Given the description of an element on the screen output the (x, y) to click on. 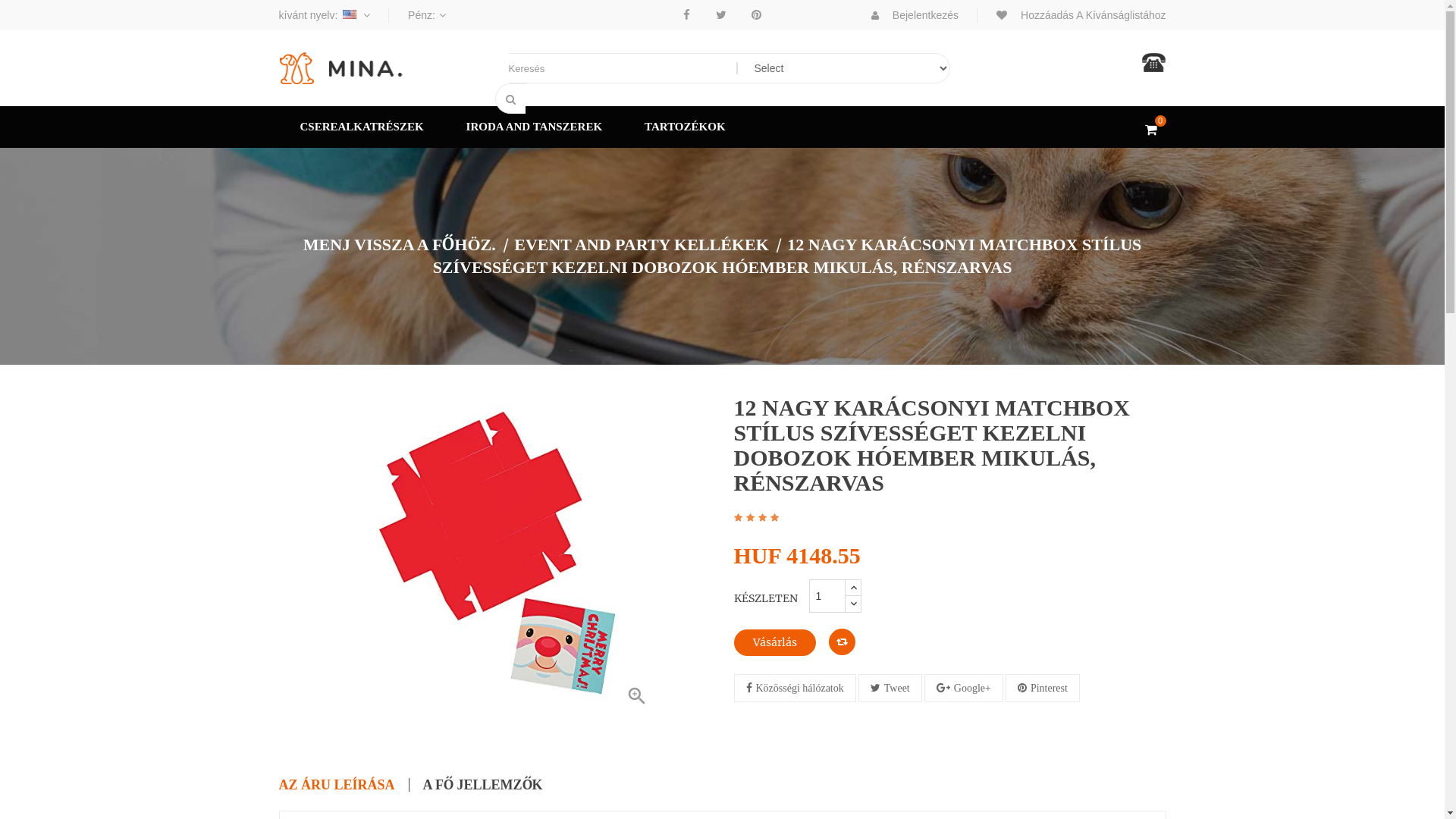
Add to Compare Element type: hover (841, 641)
Google+ Element type: text (963, 687)
Pinterest Element type: text (756, 14)
Facebook Element type: text (686, 14)
Twitter Element type: text (720, 14)
Pinterest Element type: text (1042, 687)
Tweet Element type: text (890, 687)
IRODA AND TANSZEREK Element type: text (534, 126)
